Given the description of an element on the screen output the (x, y) to click on. 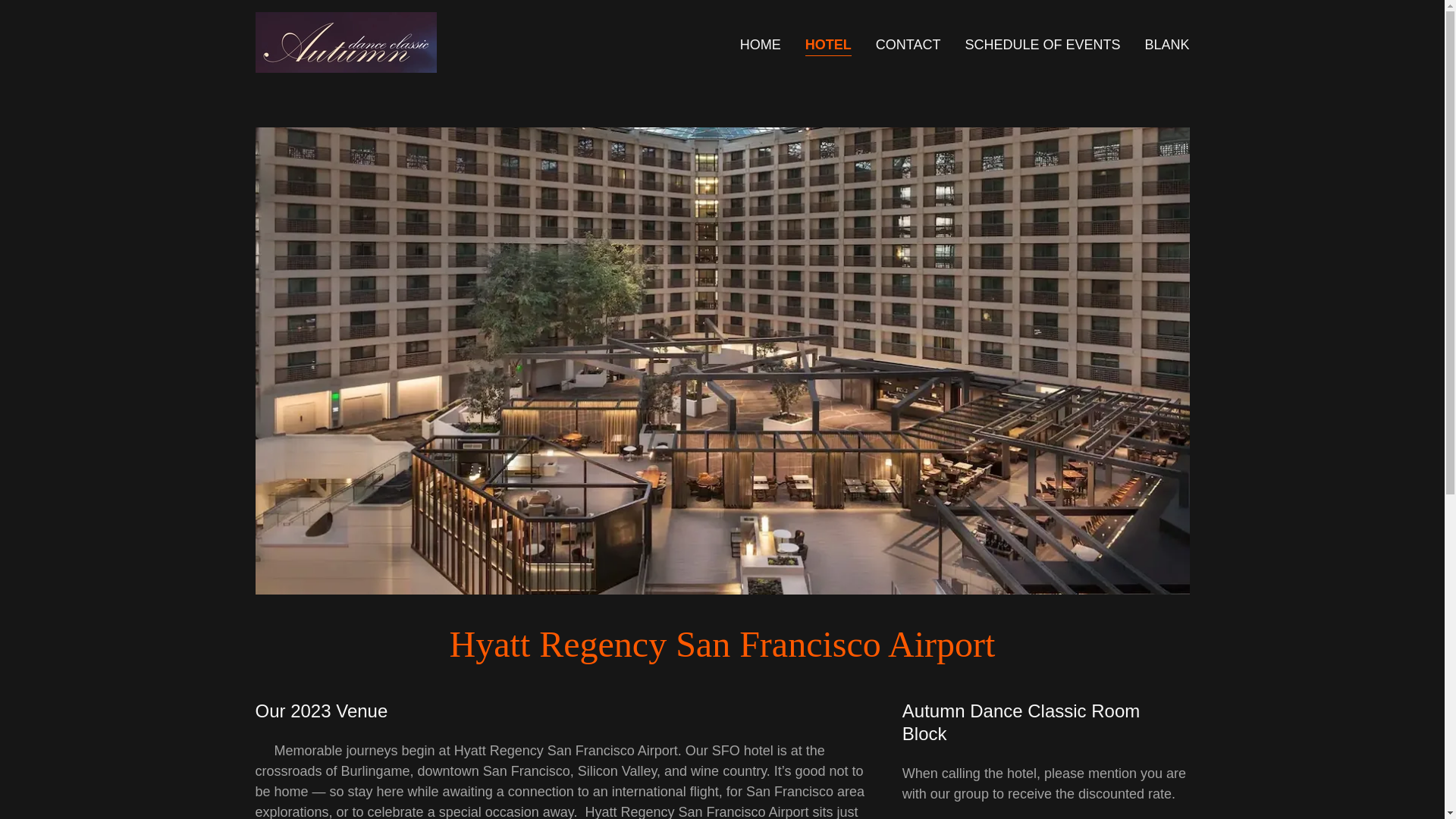
HOTEL (828, 45)
BLANK (1166, 43)
Autumn Dance Classic (344, 41)
HOME (760, 43)
CONTACT (907, 43)
SCHEDULE OF EVENTS (1041, 43)
